Given the description of an element on the screen output the (x, y) to click on. 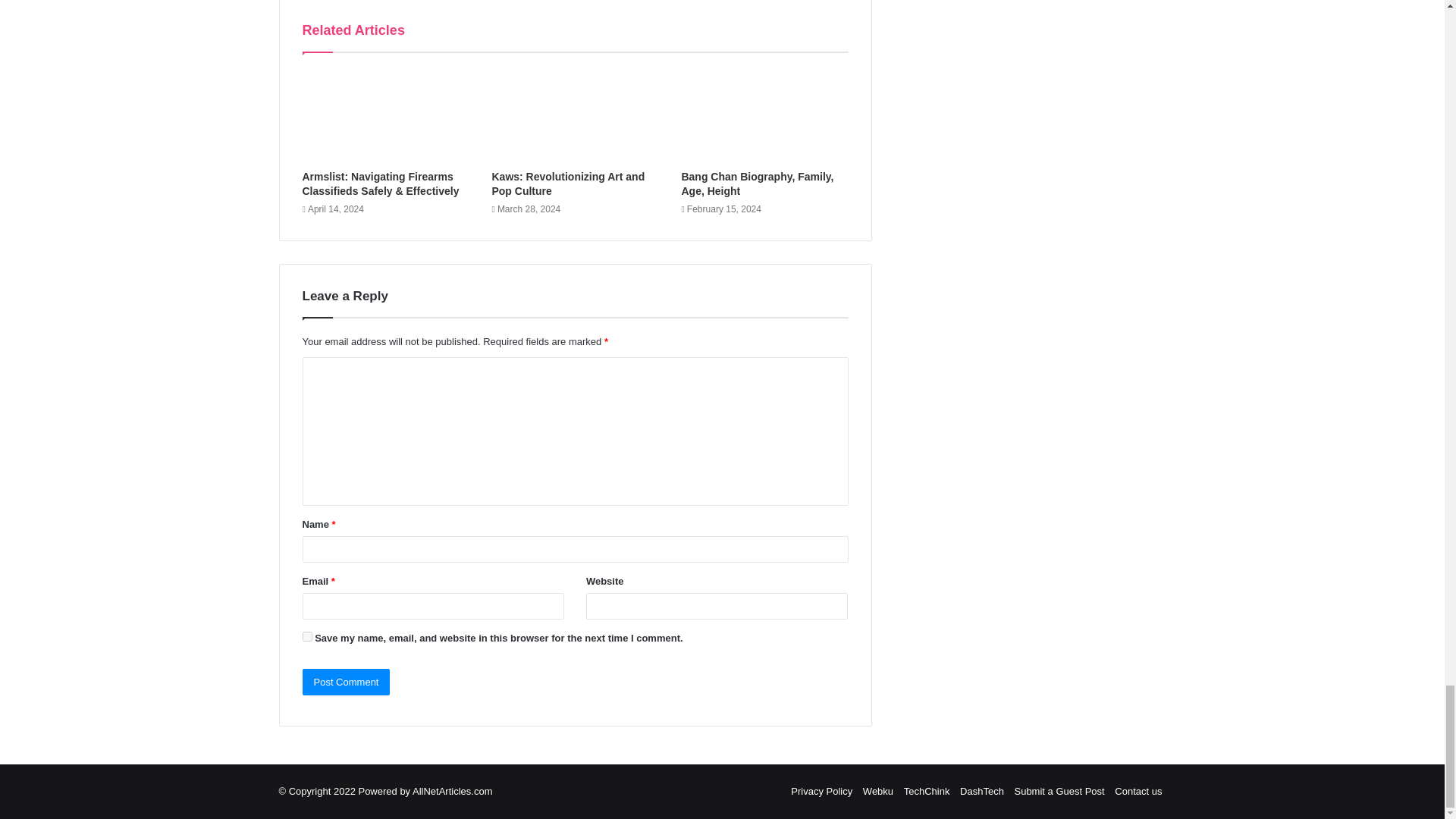
yes (306, 636)
Post Comment (345, 682)
